Given the description of an element on the screen output the (x, y) to click on. 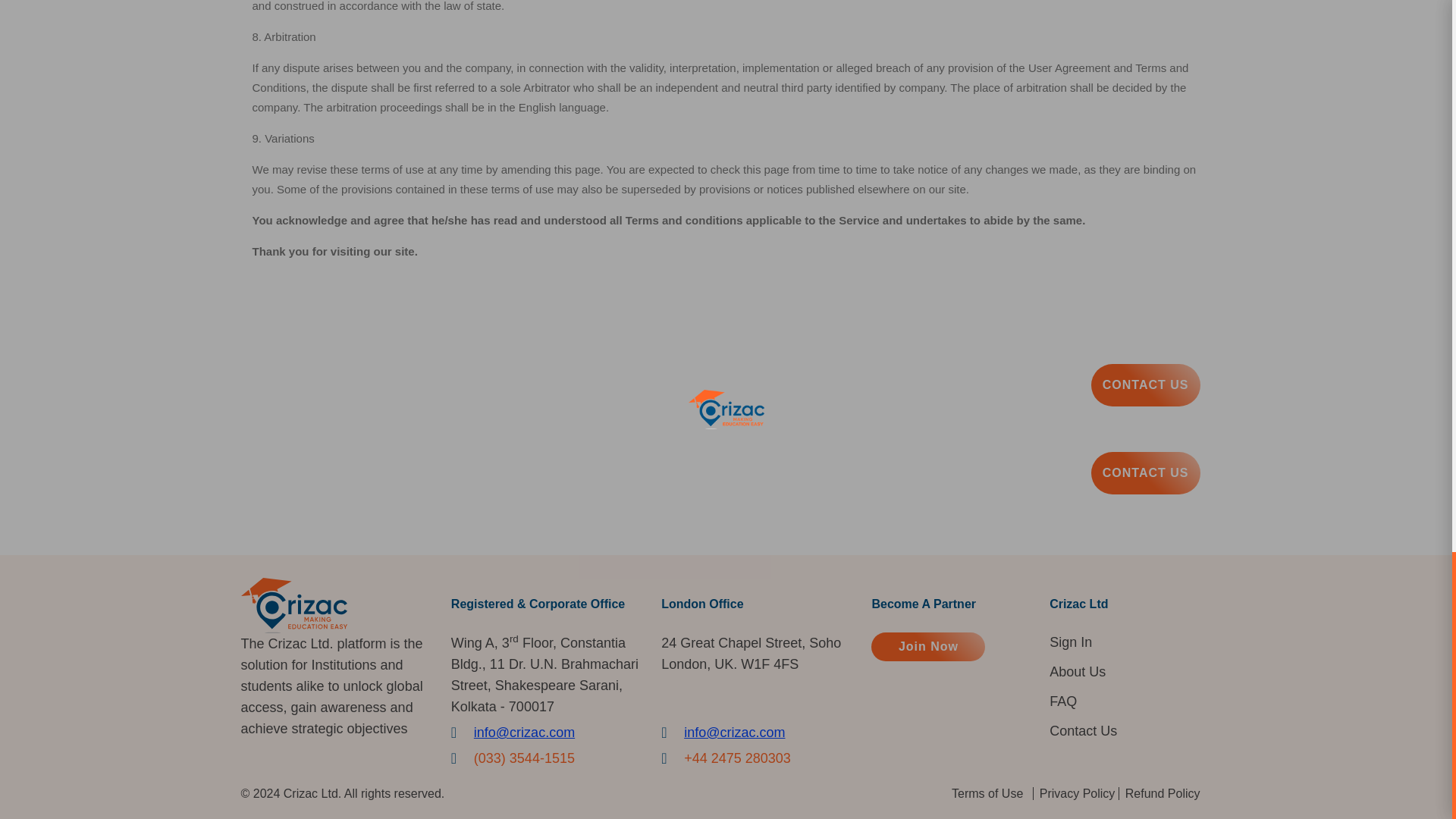
About Us (1077, 671)
Sign In (1070, 641)
CONTACT US (1144, 473)
Terms of Use (987, 793)
Join Now (927, 646)
Contact Us (1082, 731)
Privacy Policy (1077, 793)
Refund Policy (1162, 793)
CONTACT US (1144, 384)
FAQ (1063, 701)
